Given the description of an element on the screen output the (x, y) to click on. 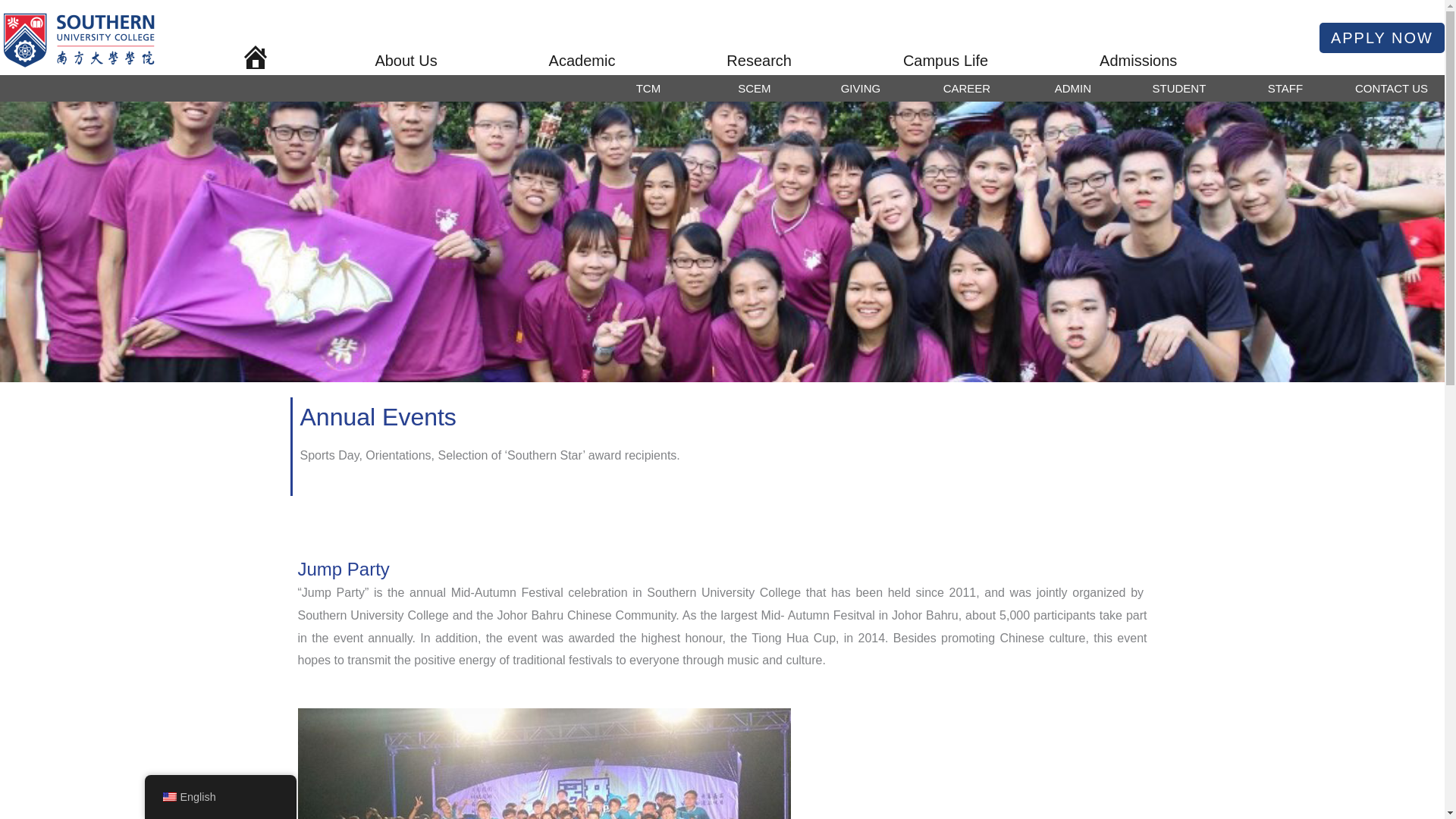
About Us (418, 60)
English (168, 796)
jump party (543, 763)
SUC logo (79, 37)
Home (264, 60)
Research (772, 60)
Academic (595, 60)
